Given the description of an element on the screen output the (x, y) to click on. 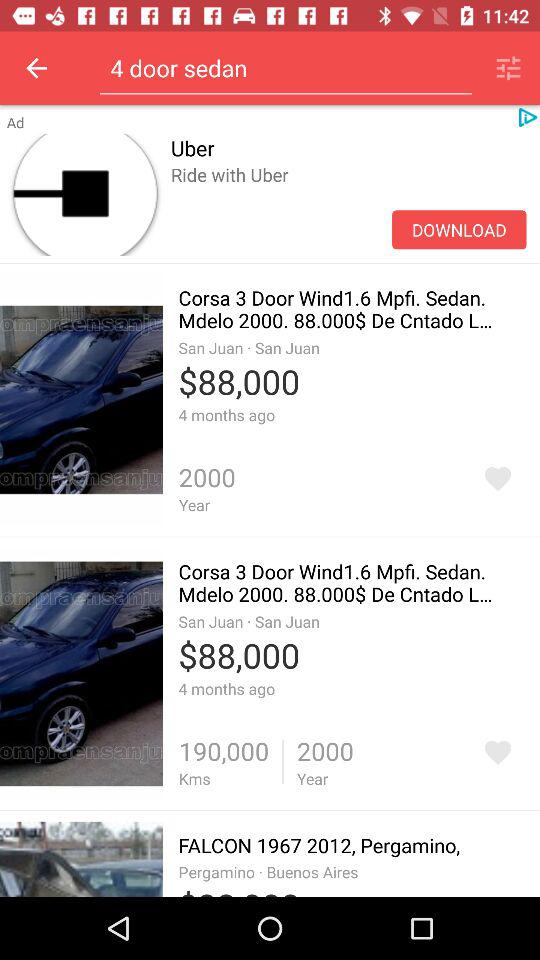
flip until the ride with uber icon (348, 195)
